Given the description of an element on the screen output the (x, y) to click on. 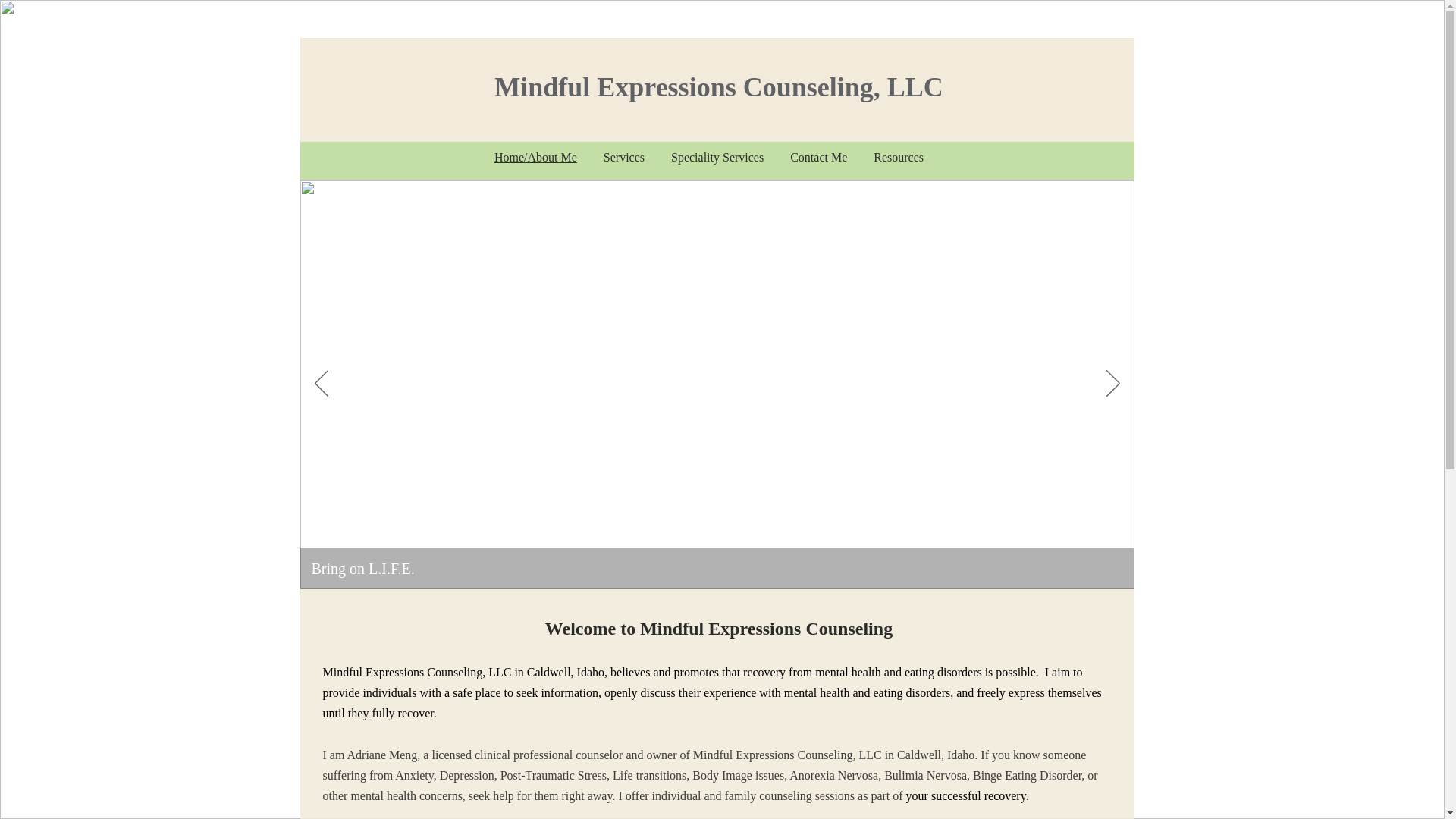
Resources (898, 157)
Speciality Services (717, 157)
Services (623, 157)
Contact Me (818, 157)
